Given the description of an element on the screen output the (x, y) to click on. 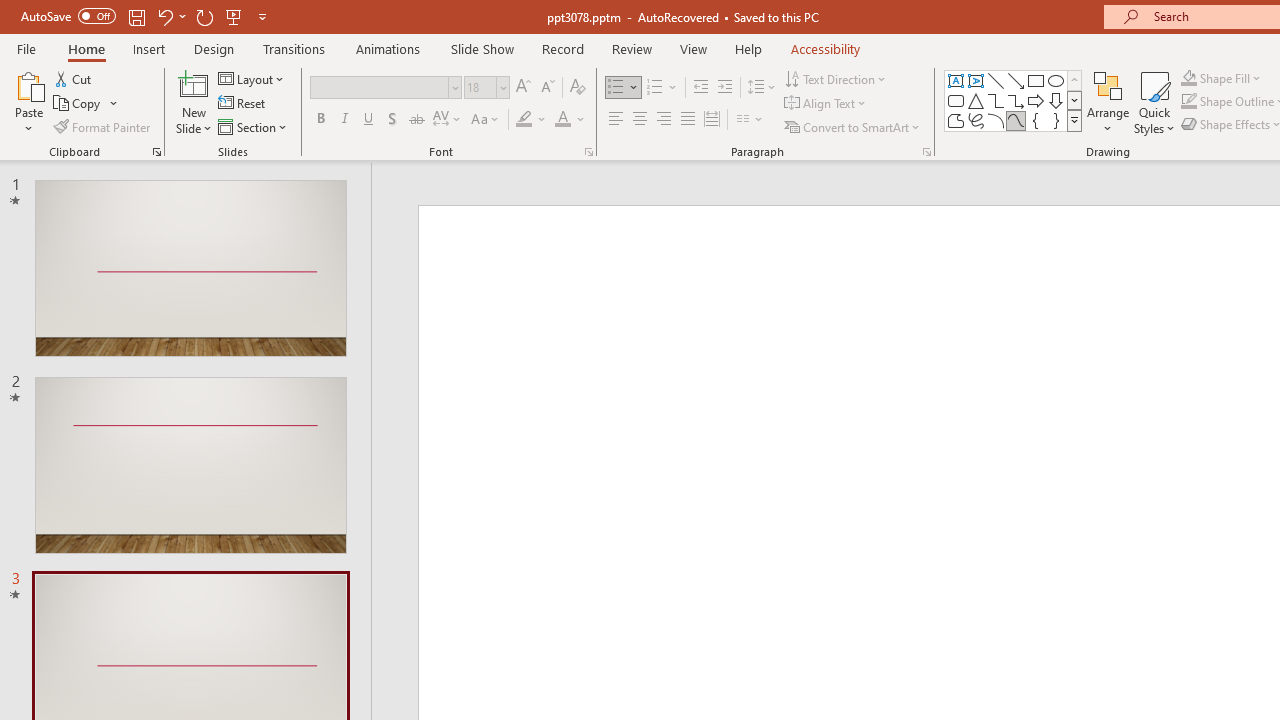
Oval (1055, 80)
Arc (995, 120)
Shadow (392, 119)
Redo (204, 15)
Review (631, 48)
AutomationID: ShapesInsertGallery (1014, 100)
Bullets (623, 87)
Distributed (712, 119)
Class: NetUIImage (1075, 120)
Text Highlight Color Yellow (524, 119)
Font (385, 87)
Slide (190, 465)
